Given the description of an element on the screen output the (x, y) to click on. 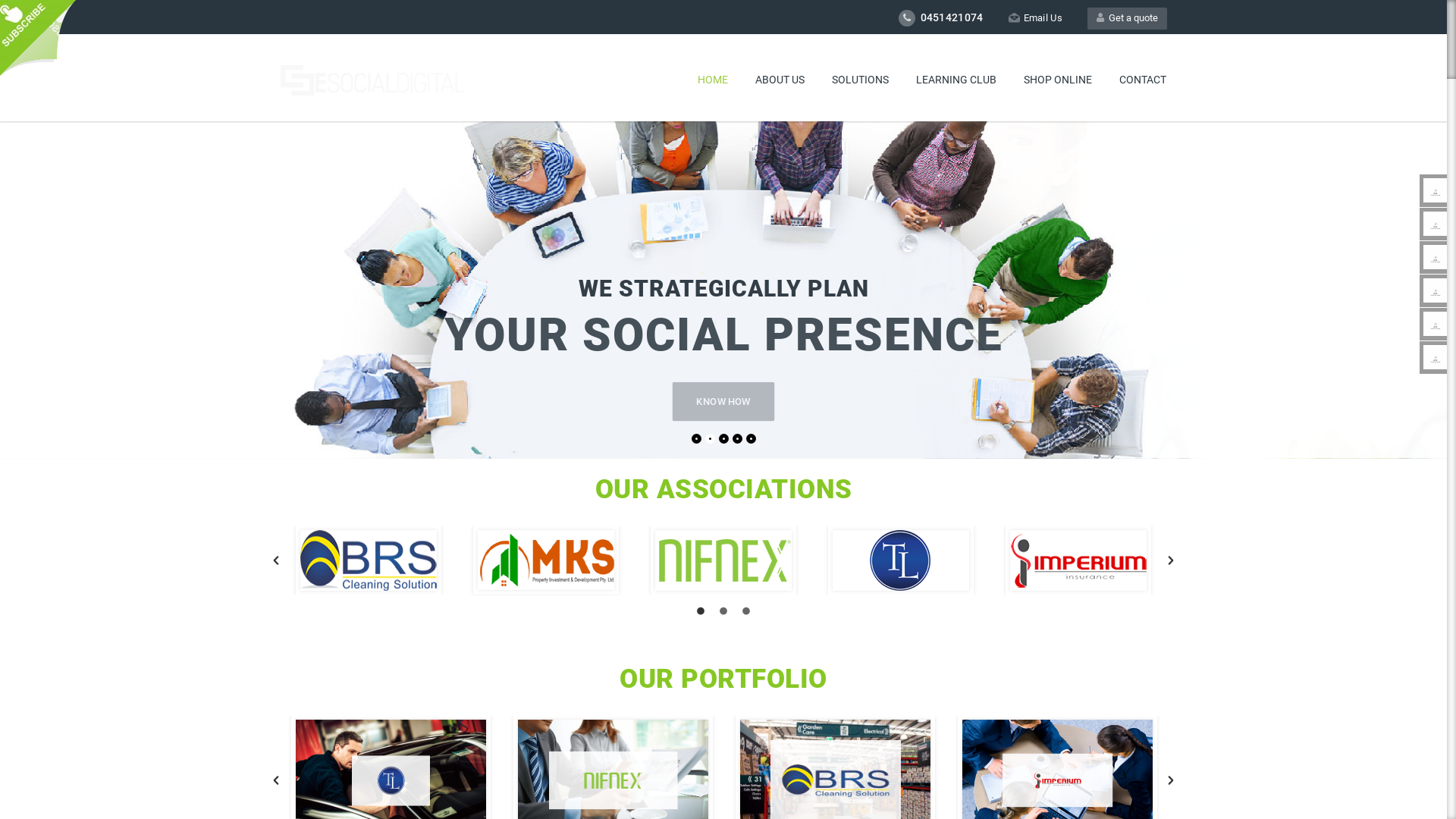
CONTACT Element type: text (1142, 79)
SOLUTIONS Element type: text (860, 79)
LEARNING CLUB Element type: text (956, 79)
  Get a quote Element type: text (1127, 18)
How we
create
websites Element type: text (827, 234)
Email Us Element type: text (1035, 17)
ABOUT US Element type: text (779, 79)
ESocial Digital Vikilinks Element type: hover (1435, 223)
HOME Element type: text (712, 79)
SHOP ONLINE Element type: text (1057, 79)
CLICK HERE TO KNOW Element type: text (831, 291)
CONTACT NOW! Element type: text (361, 349)
